Given the description of an element on the screen output the (x, y) to click on. 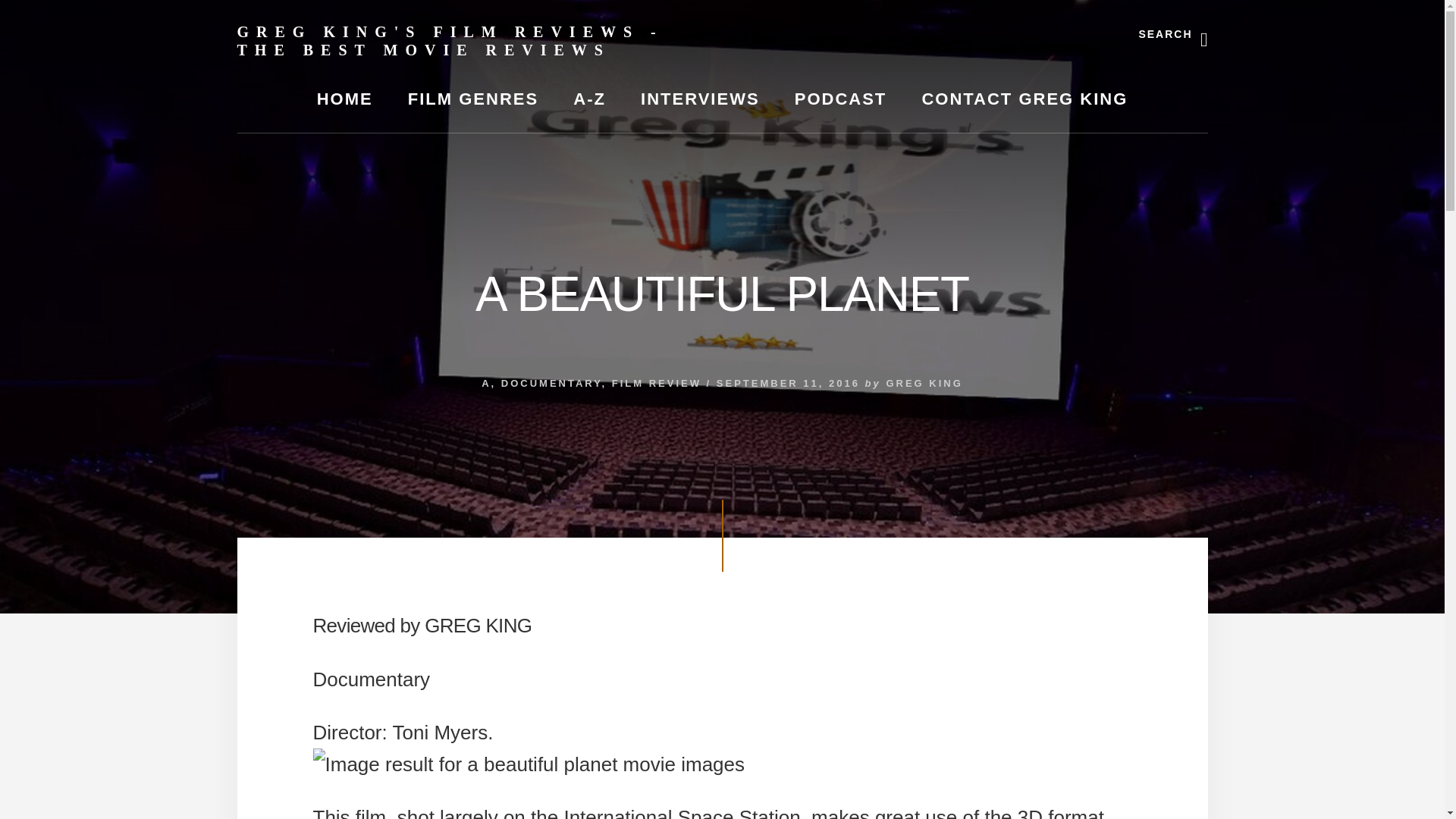
FILM GENRES (473, 99)
View source image (528, 764)
A-Z (589, 99)
HOME (344, 99)
GREG KING'S FILM REVIEWS - THE BEST MOVIE REVIEWS (448, 40)
